Given the description of an element on the screen output the (x, y) to click on. 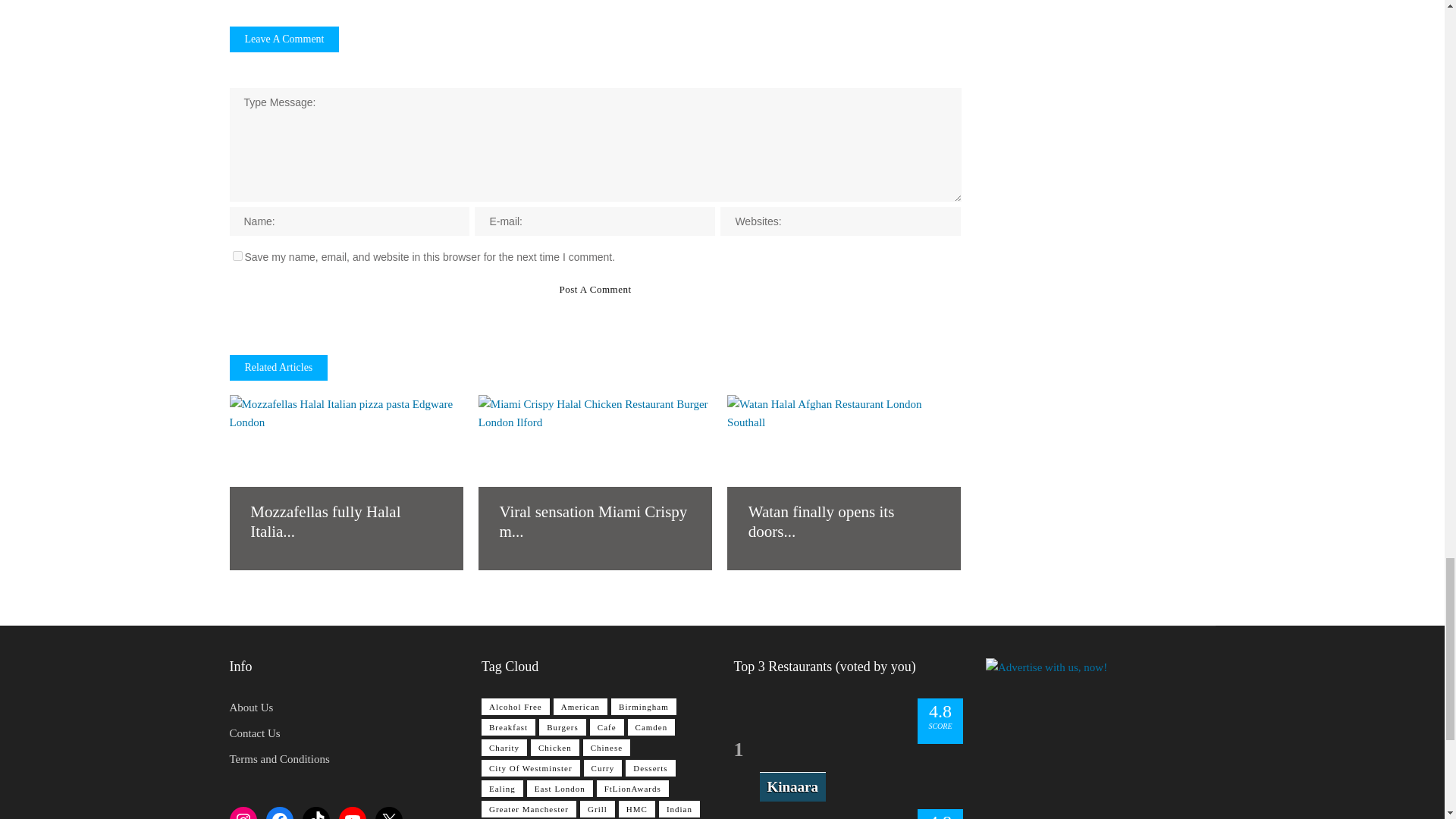
Post A Comment (594, 289)
yes (236, 255)
